Given the description of an element on the screen output the (x, y) to click on. 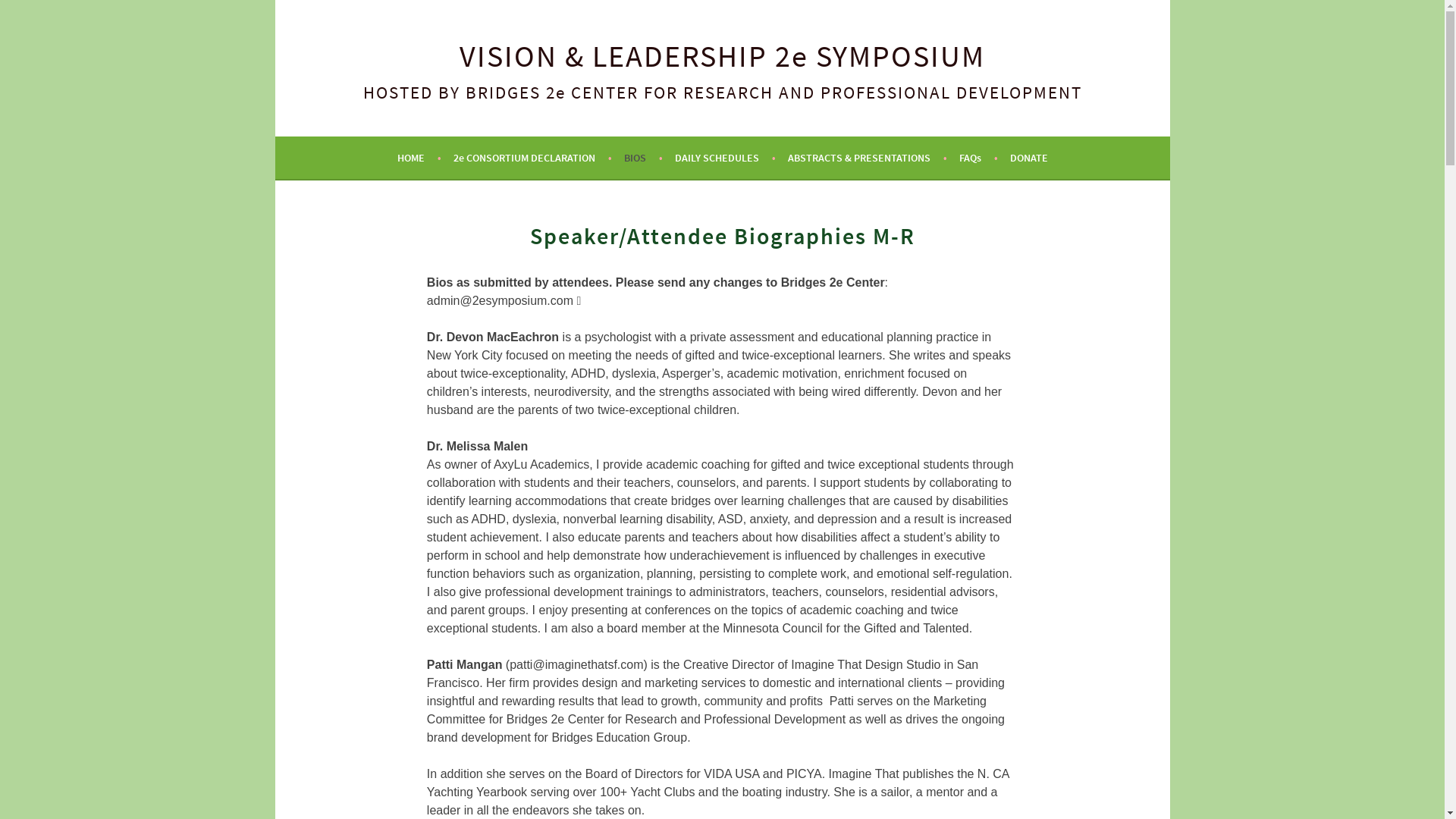
DONATE Element type: text (1029, 157)
BIOS Element type: text (642, 157)
DAILY SCHEDULES Element type: text (724, 157)
HOME Element type: text (419, 157)
2e CONSORTIUM DECLARATION Element type: text (532, 157)
VISION & LEADERSHIP 2e SYMPOSIUM Element type: text (722, 56)
FAQs Element type: text (977, 157)
ABSTRACTS & PRESENTATIONS Element type: text (866, 157)
